Given the description of an element on the screen output the (x, y) to click on. 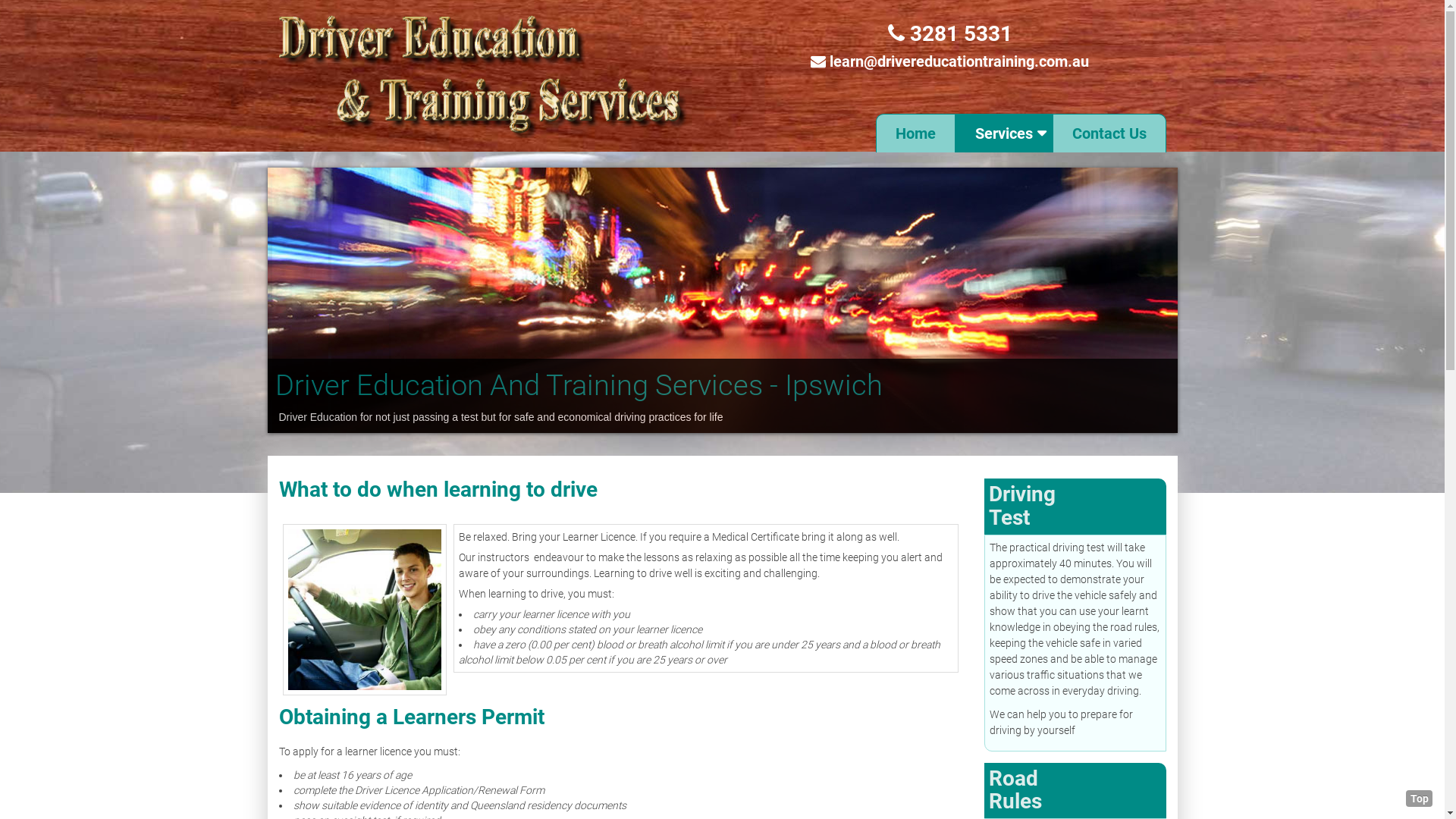
learn@drivereducationtraining.com.au Element type: text (958, 61)
Contact Us Element type: text (1109, 132)
 3281 5331 Element type: text (949, 33)
Services Element type: text (1003, 132)
Home Element type: text (914, 132)
Top Element type: text (1418, 798)
